Given the description of an element on the screen output the (x, y) to click on. 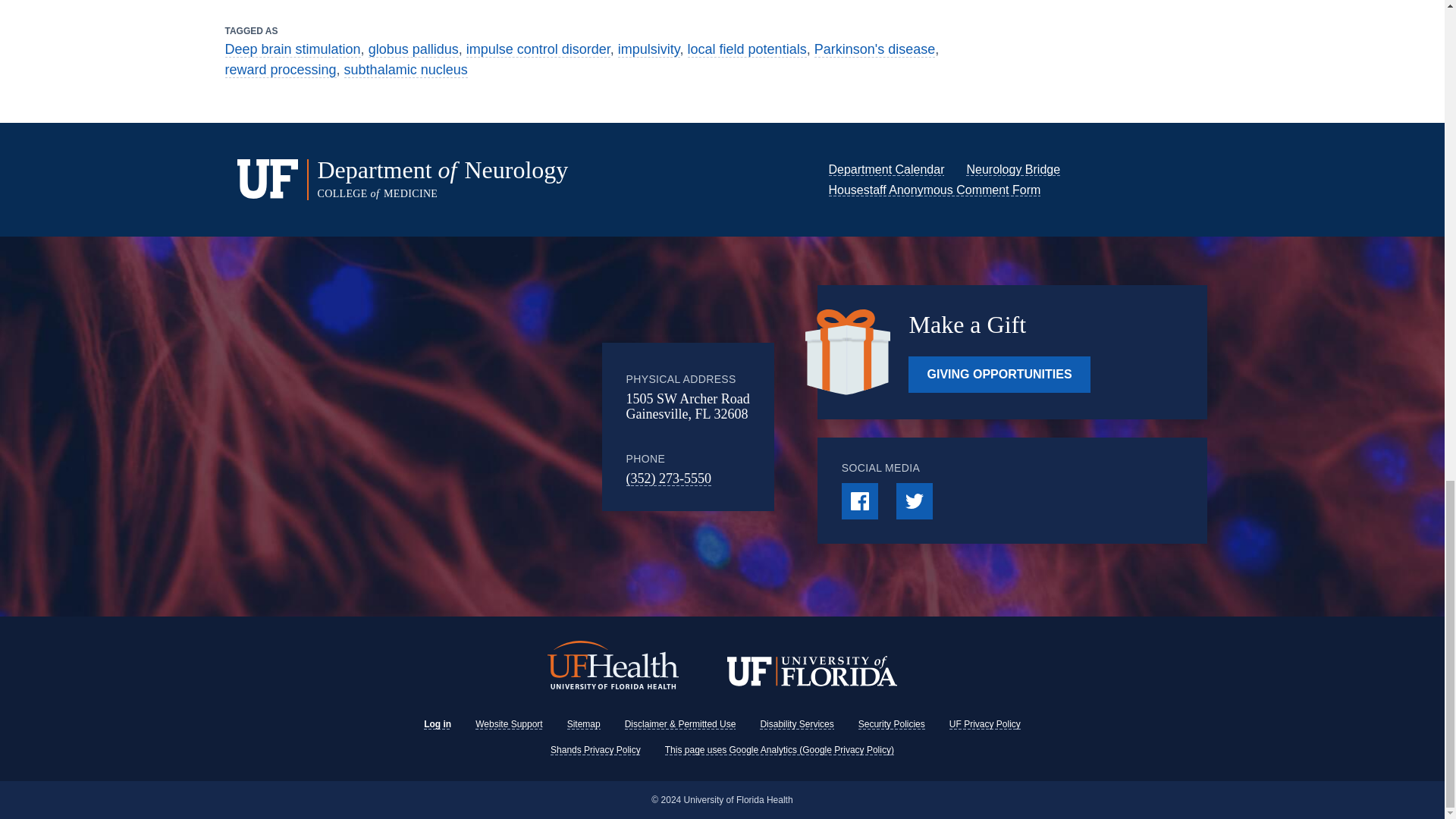
Disability Services (796, 724)
Website Support (509, 724)
Log in (437, 724)
Department Calendar (885, 169)
Neurology Bridge (1012, 169)
Google Maps Embed (477, 426)
UF Privacy Policy (984, 724)
Sitemap (583, 724)
Housestaff Anonymous Comment Form (934, 189)
Shands Privacy Policy (595, 749)
Security Policies (891, 724)
